Given the description of an element on the screen output the (x, y) to click on. 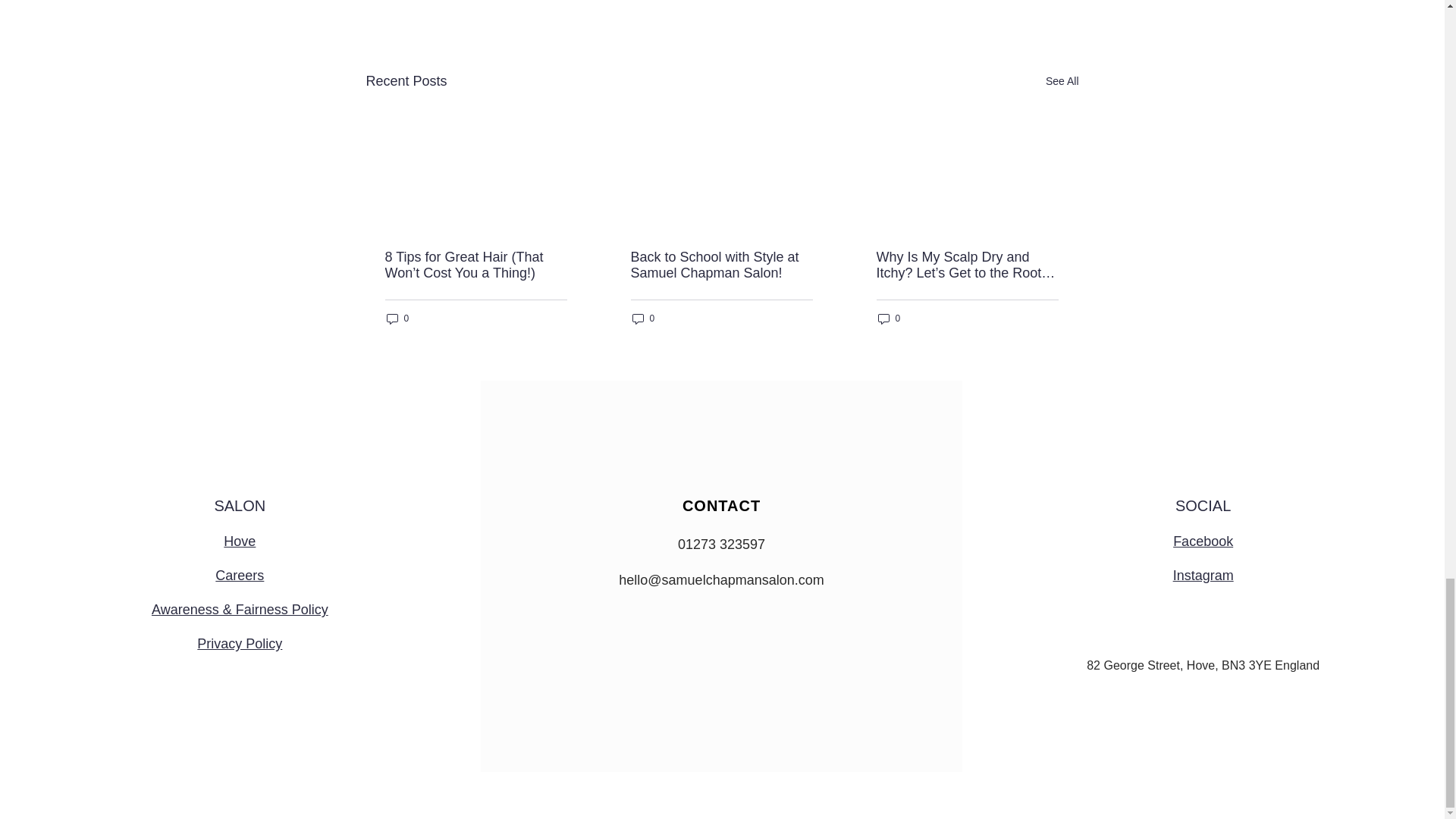
Privacy Policy (239, 643)
0 (643, 318)
Careers (239, 575)
Facebook (1203, 540)
0 (397, 318)
0 (889, 318)
Hove (240, 540)
See All (1061, 81)
Instagram (1203, 575)
Back to School with Style at Samuel Chapman Salon! (721, 265)
